Given the description of an element on the screen output the (x, y) to click on. 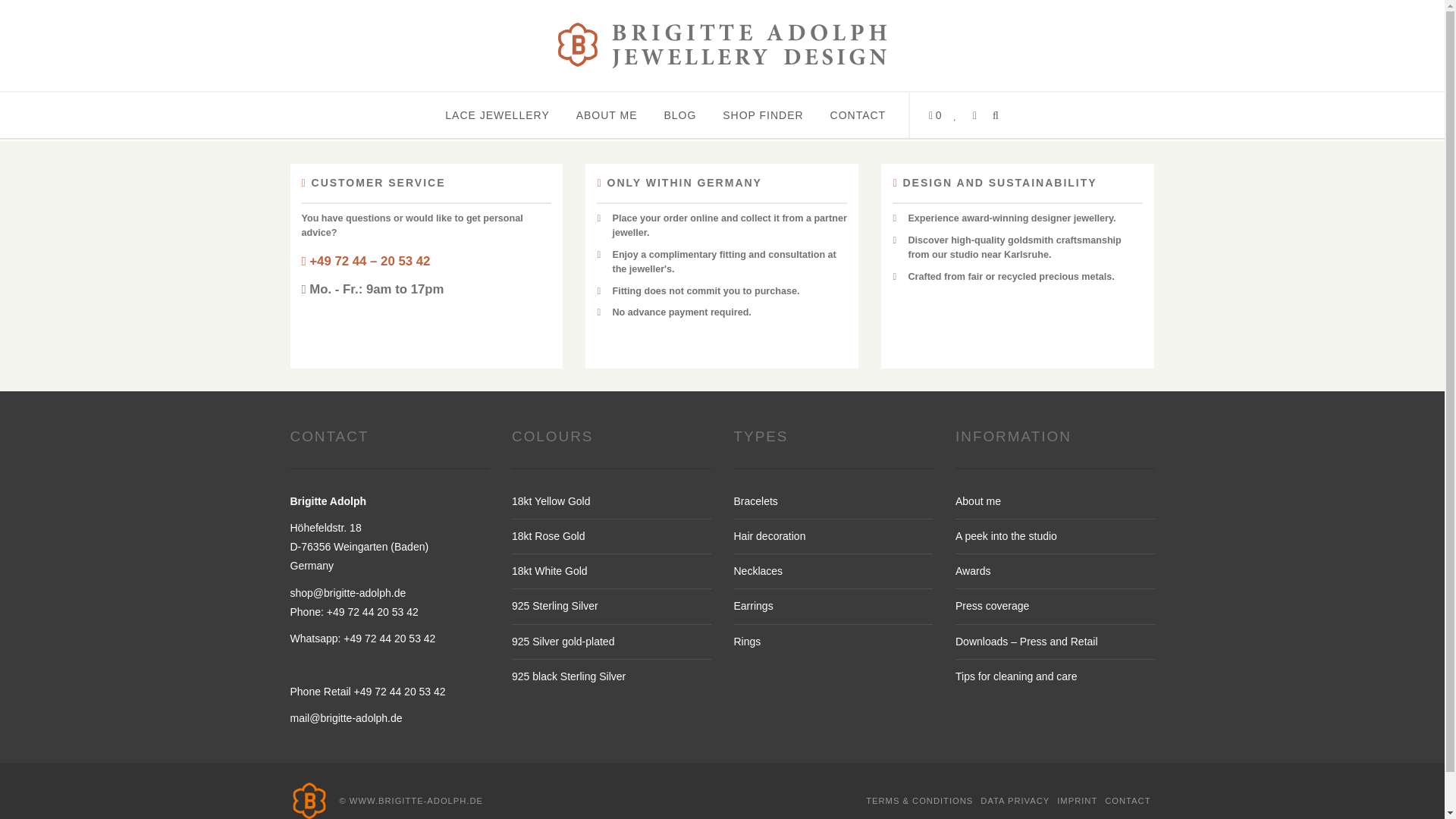
Open Cookie Preferences (32, 799)
